Given the description of an element on the screen output the (x, y) to click on. 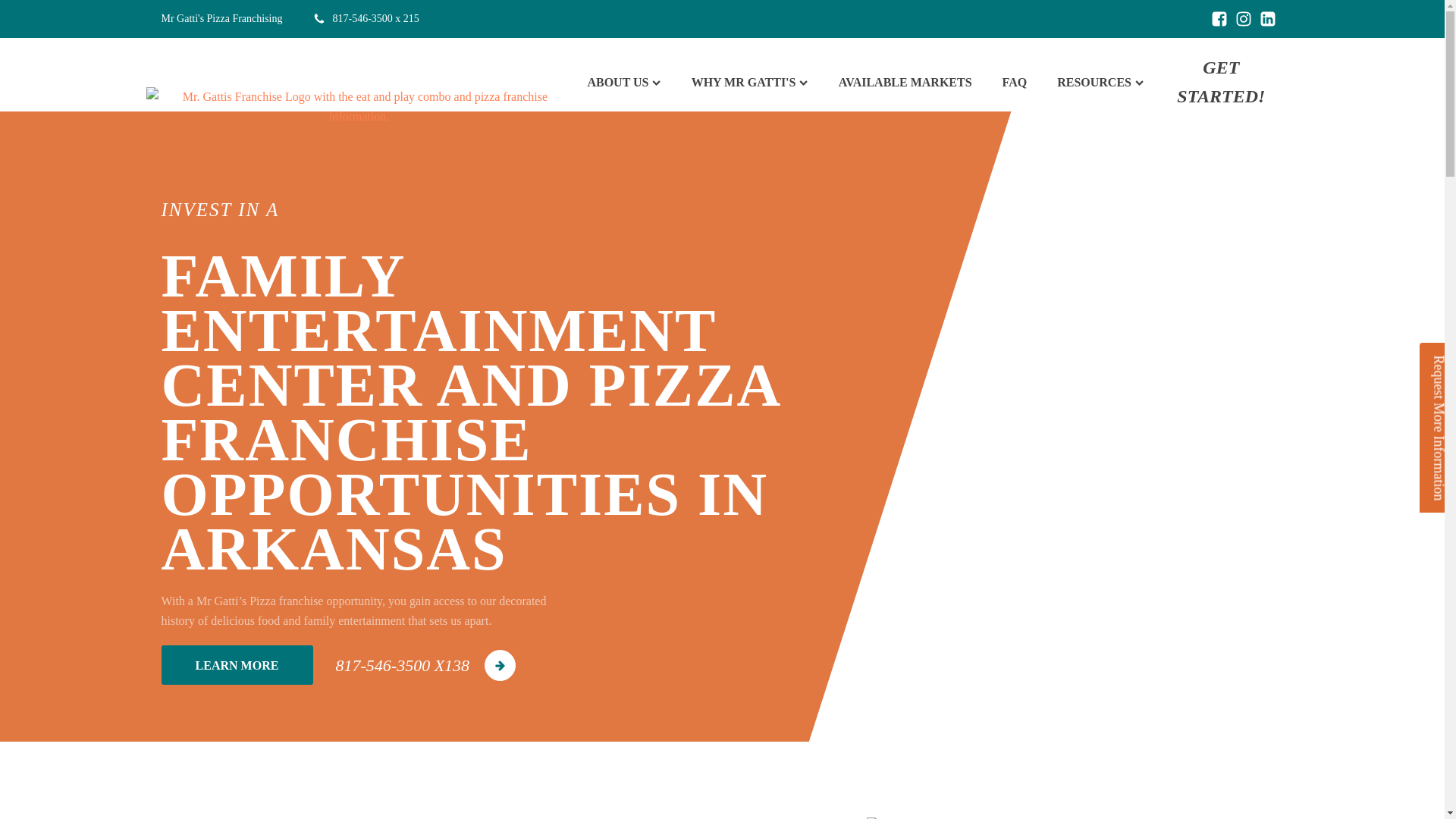
GET STARTED! (1220, 82)
LEARN MORE (236, 664)
WHY MR GATTI'S (750, 82)
RESOURCES (1100, 82)
FAQ (1014, 82)
817-546-3500 X138 (424, 665)
817-546-3500 x 215 (366, 18)
AVAILABLE MARKETS (905, 82)
ABOUT US (623, 82)
